Given the description of an element on the screen output the (x, y) to click on. 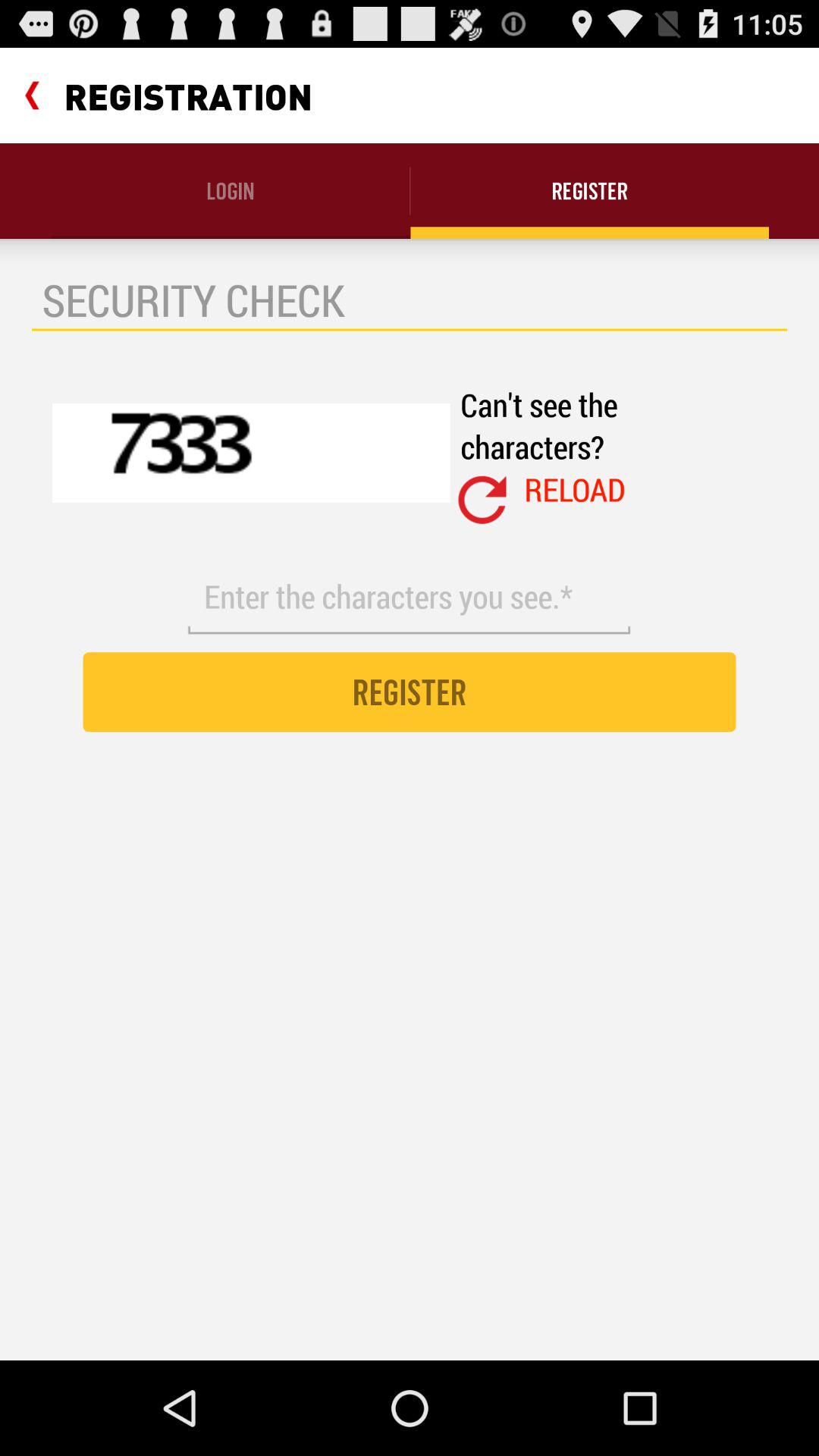
click item above the register icon (409, 597)
